Given the description of an element on the screen output the (x, y) to click on. 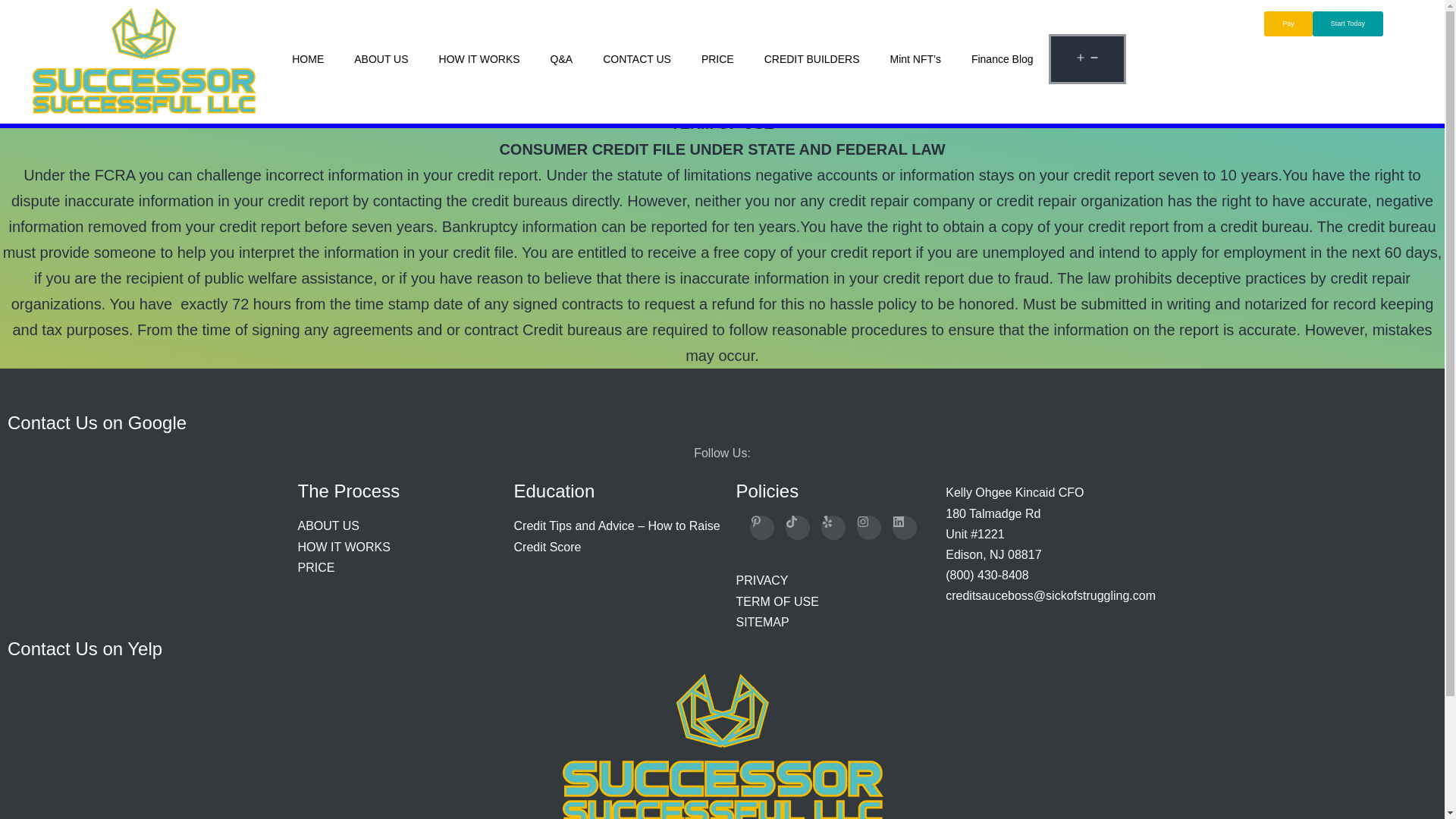
PRIVACY (761, 580)
CONTACT US (636, 59)
HOW IT WORKS (479, 59)
HOME (307, 59)
CREDIT BUILDERS (812, 59)
SITEMAP (762, 621)
Finance Blog (1002, 59)
PRICE (717, 59)
CREDIT BUILDERS (812, 59)
ABOUT US (381, 59)
ABOUT US (381, 59)
TERM OF USE (776, 601)
CONTACT US (636, 59)
PRICE (717, 59)
HOW IT WORKS (479, 59)
